Given the description of an element on the screen output the (x, y) to click on. 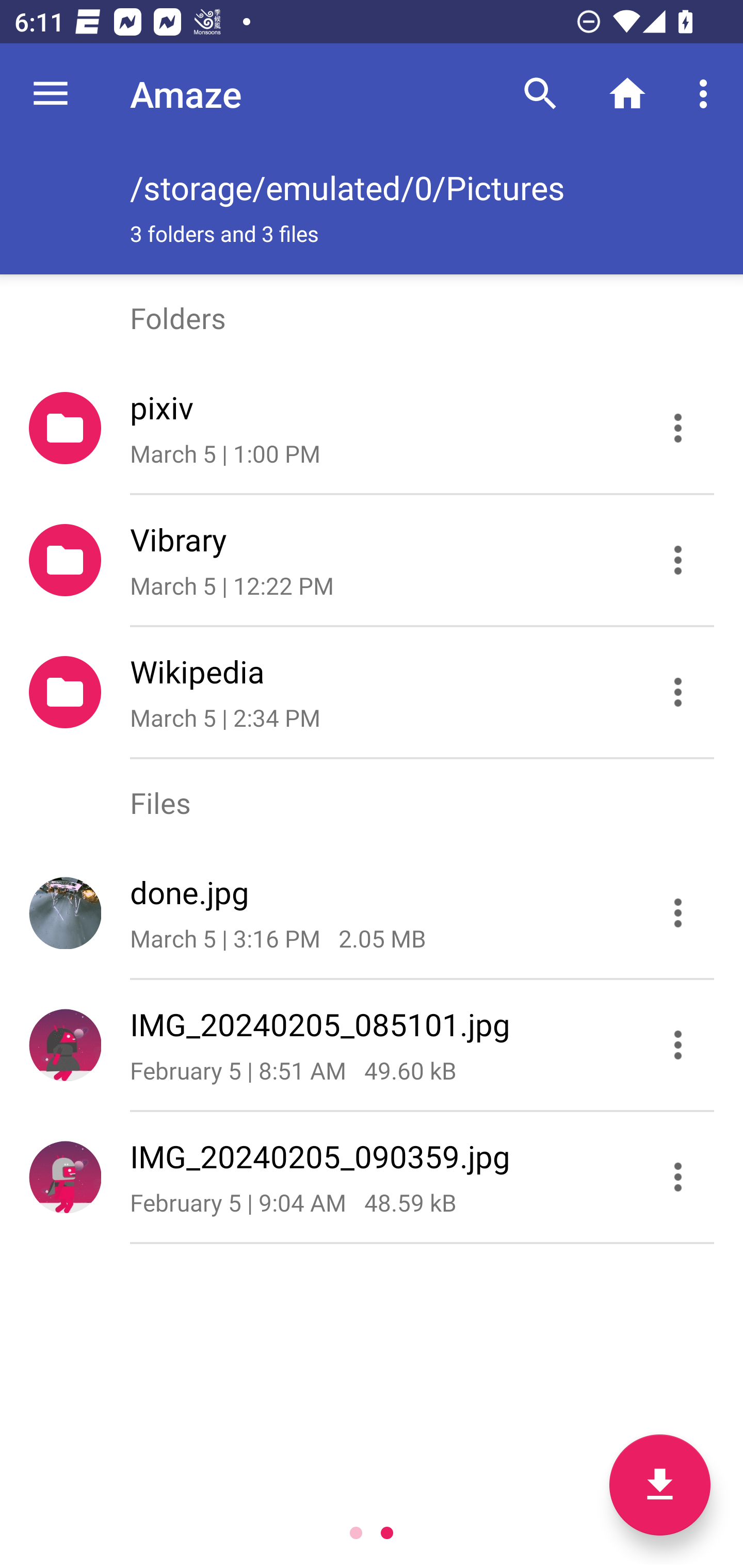
Navigate up (50, 93)
Search (540, 93)
Home (626, 93)
More options (706, 93)
pixiv March 5 | 1:00 PM (371, 427)
Vibrary March 5 | 12:22 PM (371, 560)
Wikipedia March 5 | 2:34 PM (371, 692)
icon done.jpg March 5 | 3:16 PM 2.05 MB (371, 913)
icon (64, 912)
icon (64, 1044)
icon (64, 1177)
